Given the description of an element on the screen output the (x, y) to click on. 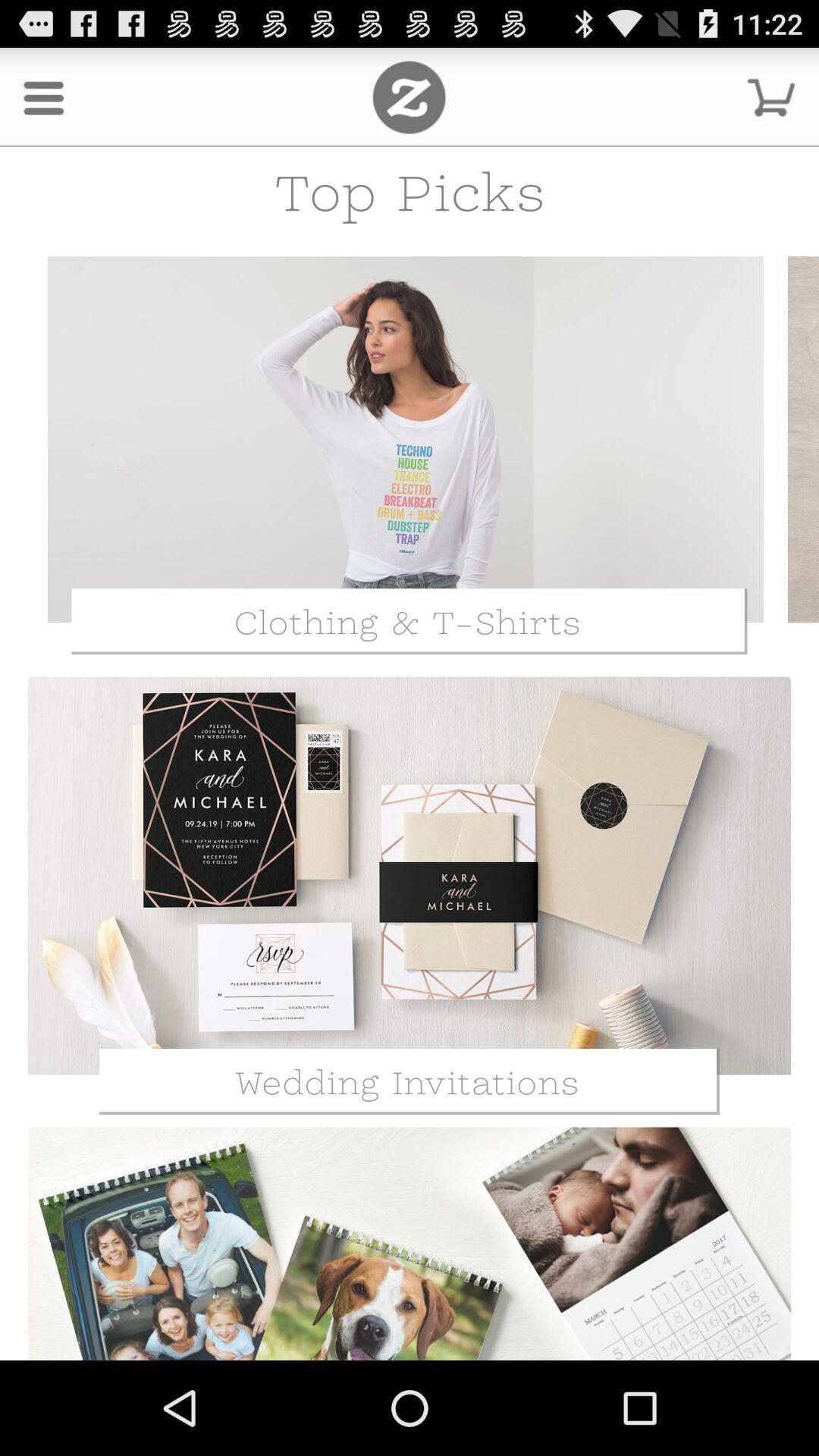
main menu (408, 97)
